Given the description of an element on the screen output the (x, y) to click on. 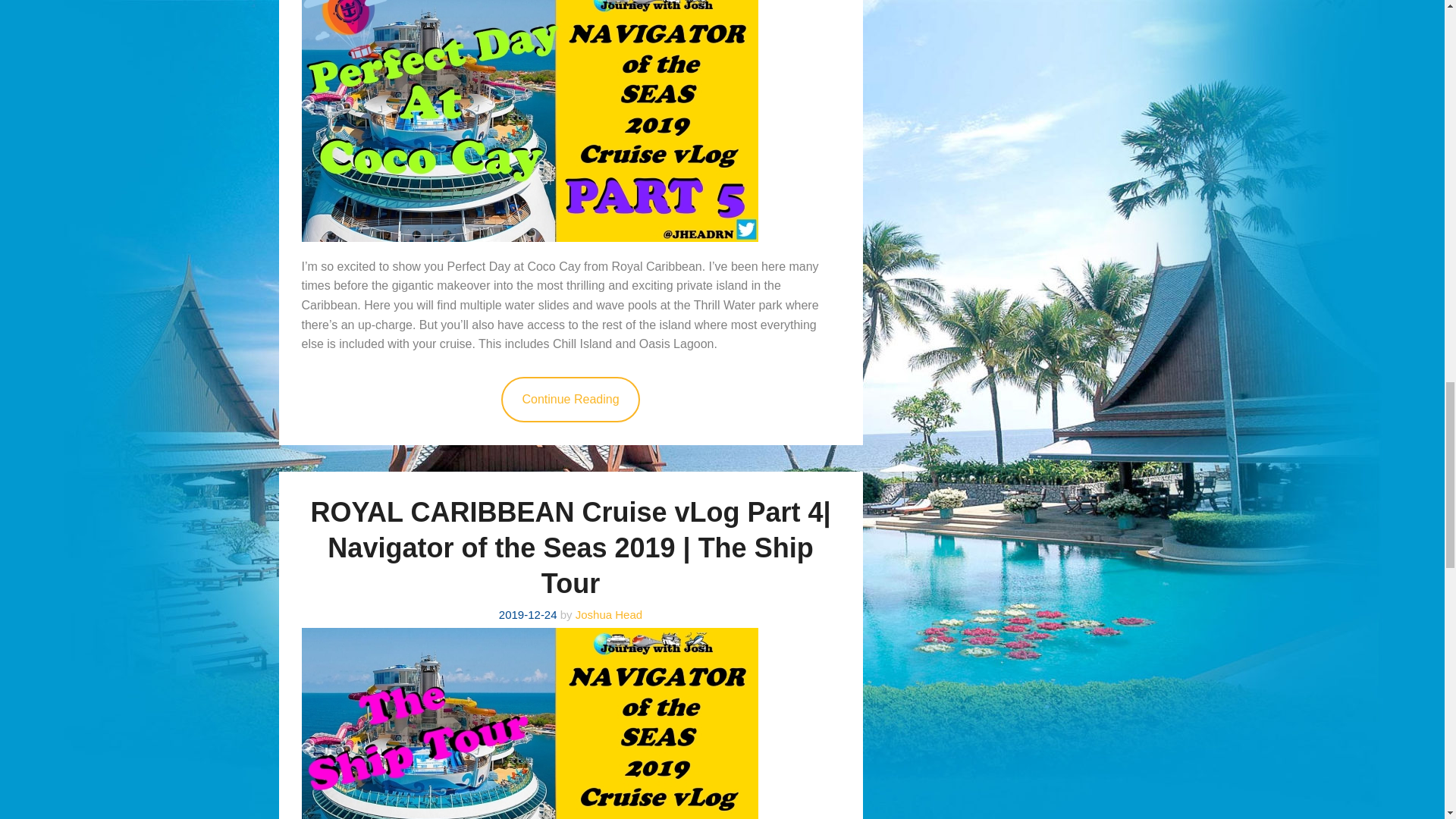
Continue Reading (569, 399)
2019-12-24 (528, 614)
